Given the description of an element on the screen output the (x, y) to click on. 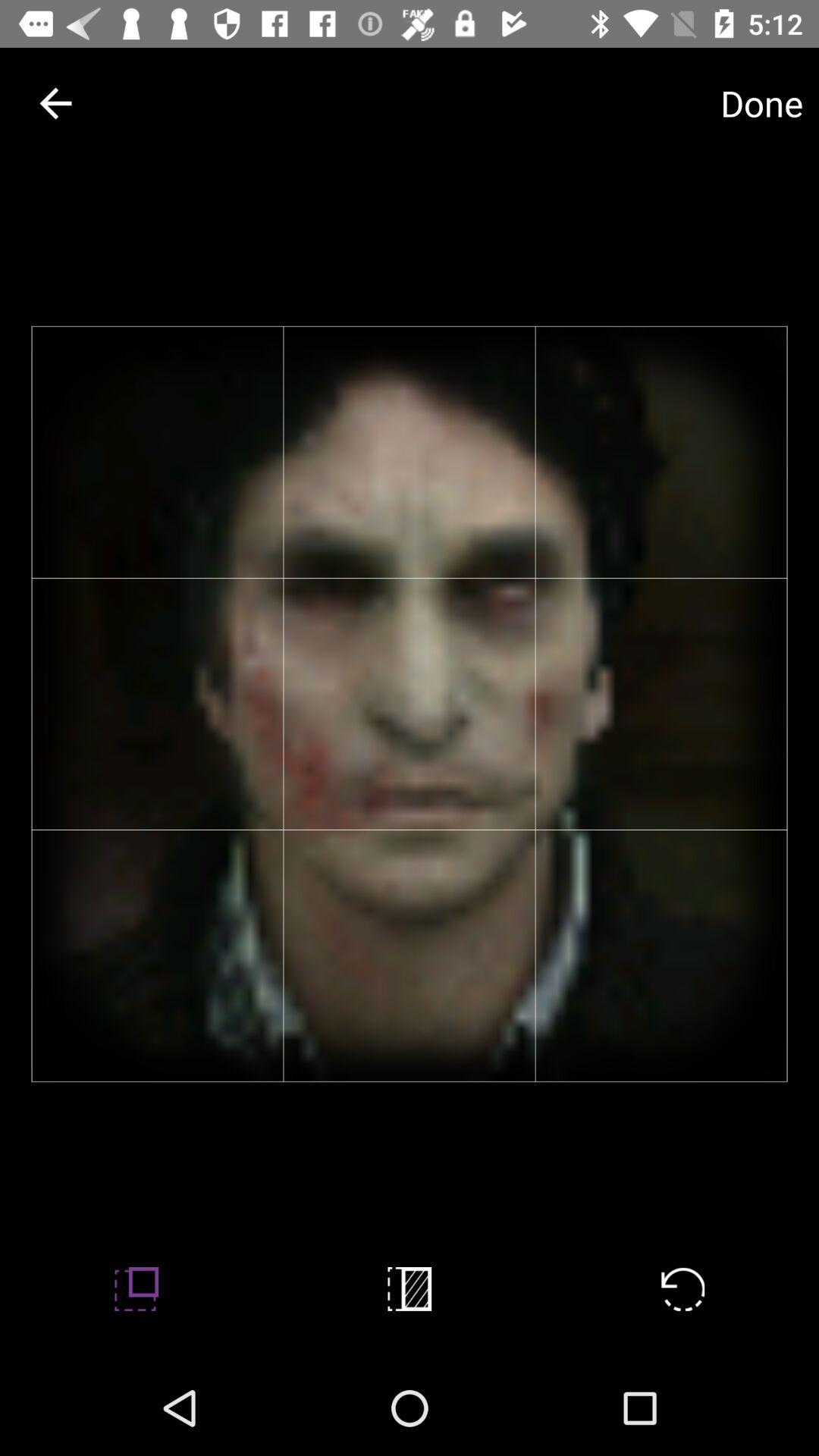
resize (136, 1288)
